Given the description of an element on the screen output the (x, y) to click on. 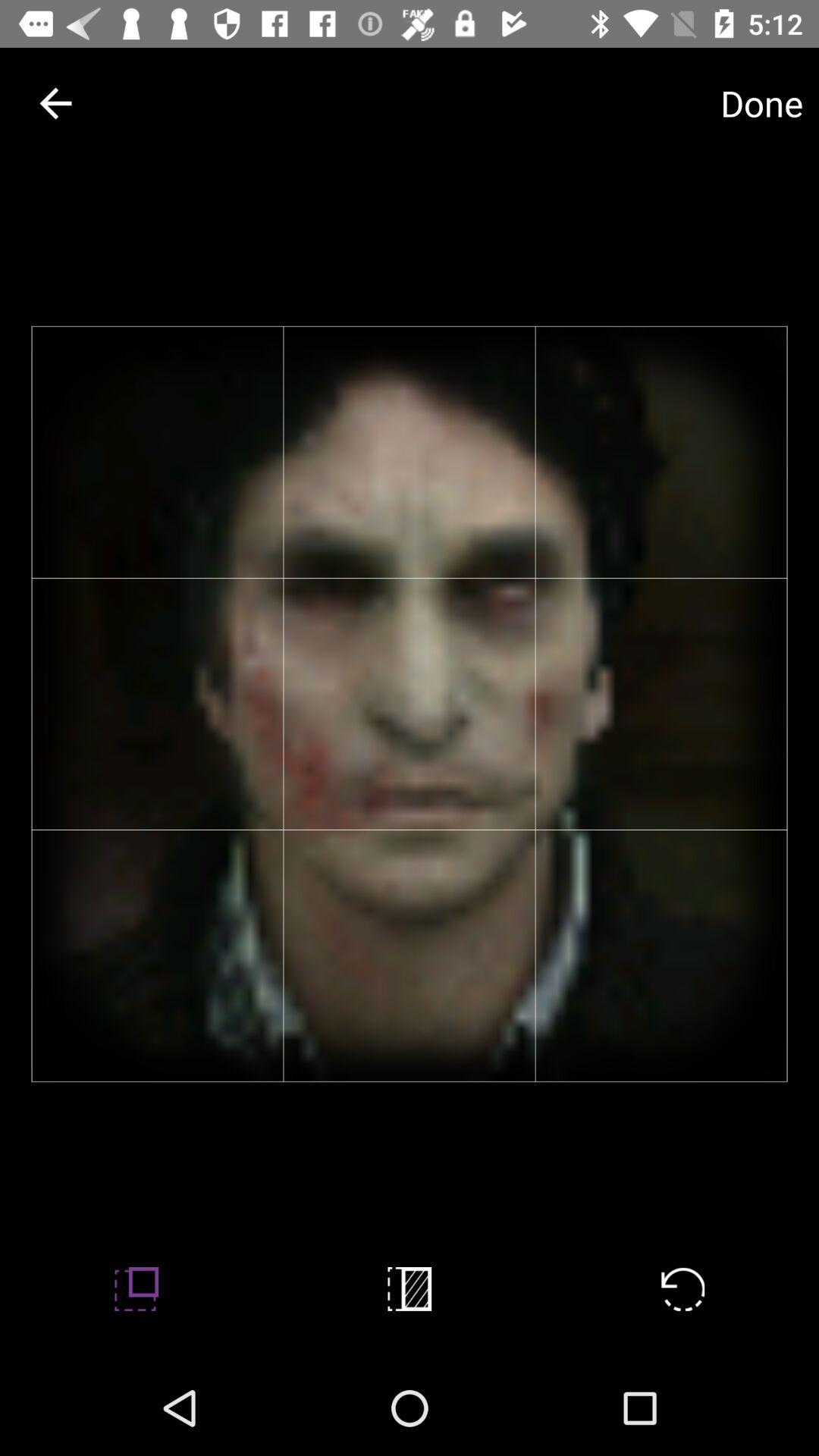
resize (136, 1288)
